Given the description of an element on the screen output the (x, y) to click on. 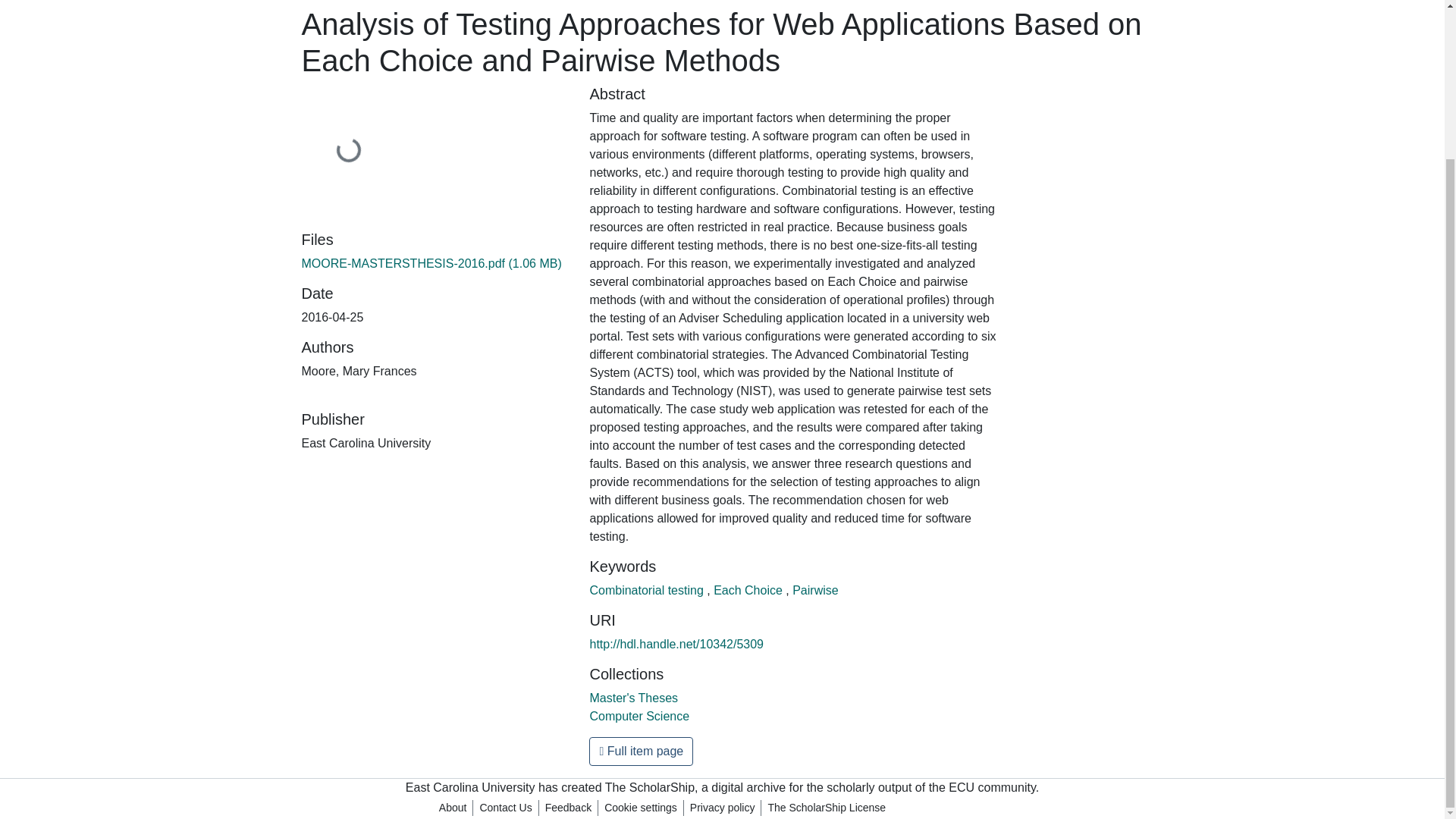
Privacy policy (722, 807)
About (452, 807)
Feedback (567, 807)
Combinatorial testing (647, 590)
Computer Science (638, 716)
Master's Theses (633, 697)
Each Choice (749, 590)
Contact Us (505, 807)
The ScholarShip License (826, 807)
Pairwise (815, 590)
Cookie settings (640, 807)
Full item page (641, 751)
